Given the description of an element on the screen output the (x, y) to click on. 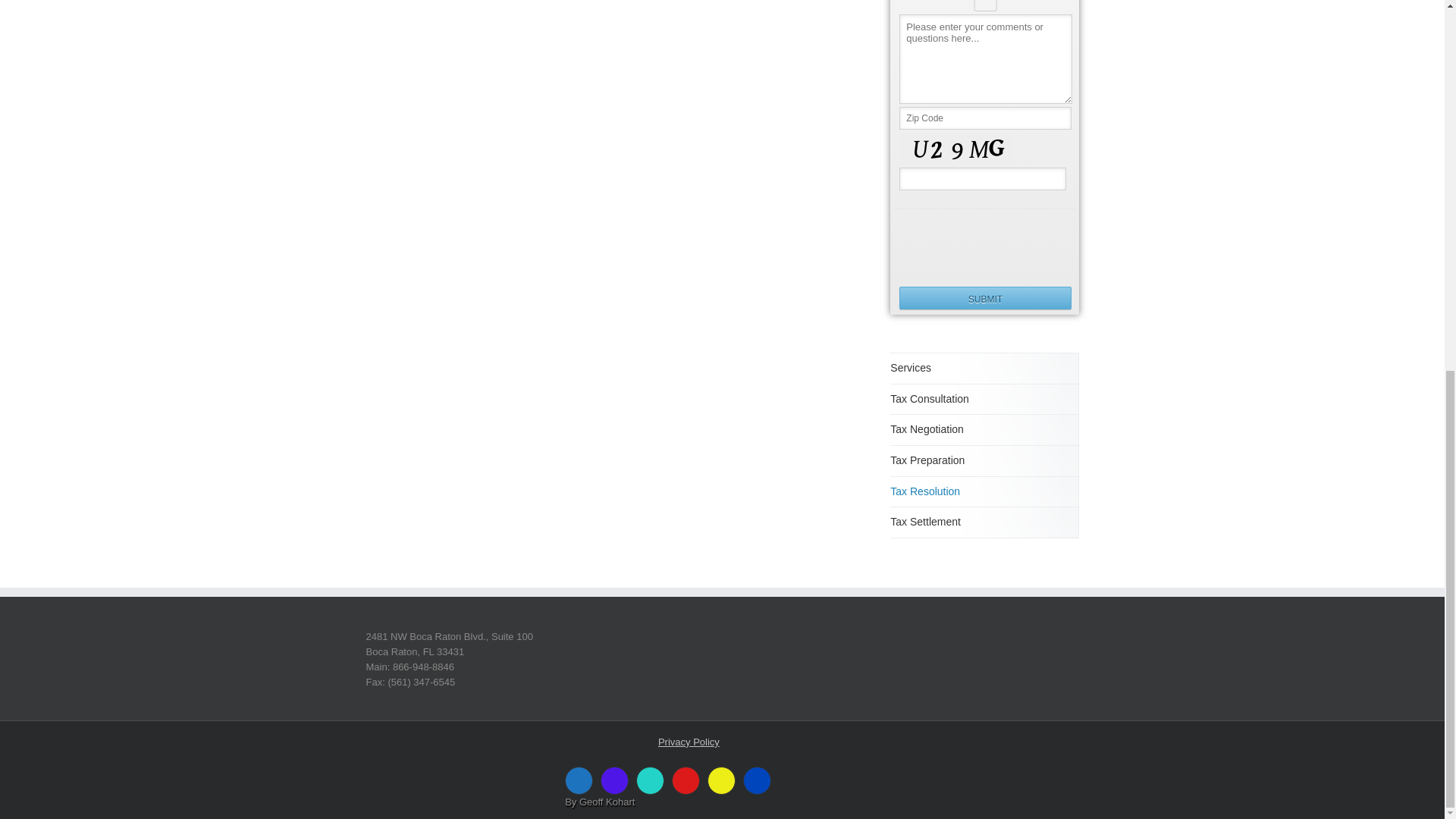
Checkbox (984, 5)
Zip Code (984, 118)
Submit (984, 297)
